Given the description of an element on the screen output the (x, y) to click on. 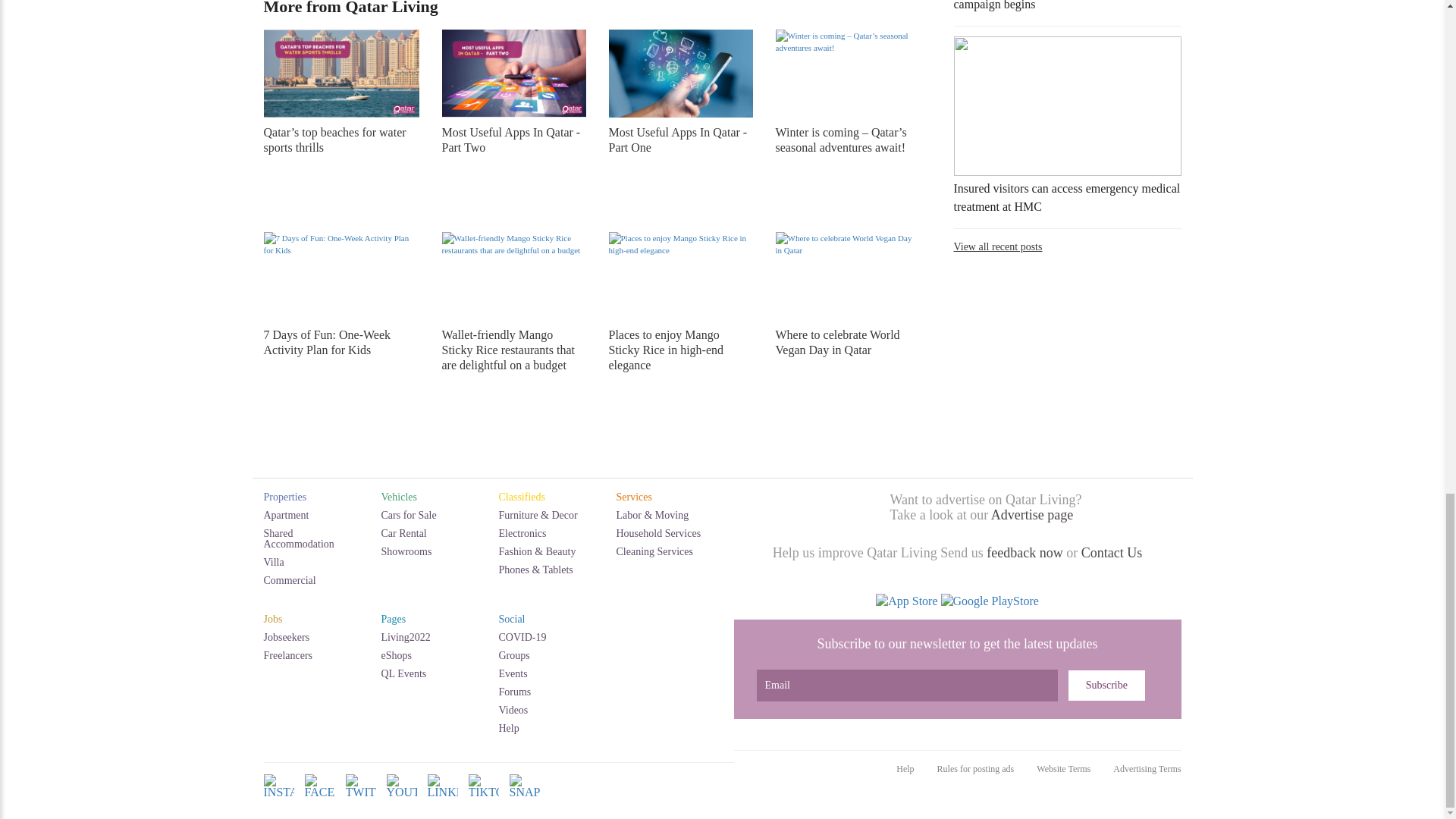
SNAPCHAT (524, 797)
FACEBOOK (319, 797)
TIKTOK (483, 797)
TWITTER (360, 797)
YOUTUBE (401, 797)
Subscribe (1106, 685)
INSTAGRAM (278, 797)
LINKEDIN (443, 797)
